Given the description of an element on the screen output the (x, y) to click on. 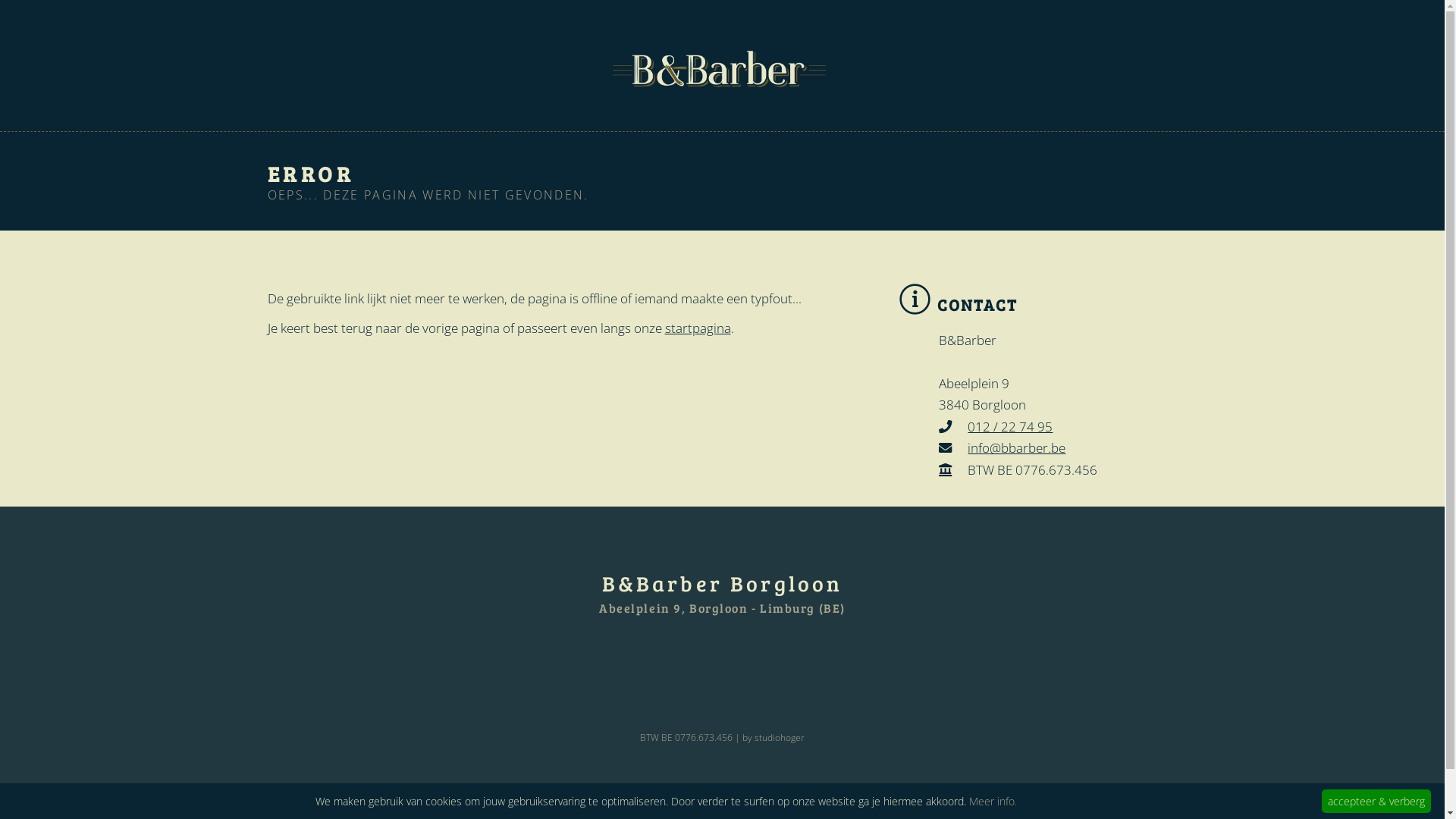
info@bbarber.be Element type: text (1016, 447)
by studiohoger Element type: text (773, 737)
Meer info. Element type: text (992, 800)
012 / 22 74 95 Element type: text (1009, 426)
startpagina Element type: text (697, 327)
